Given the description of an element on the screen output the (x, y) to click on. 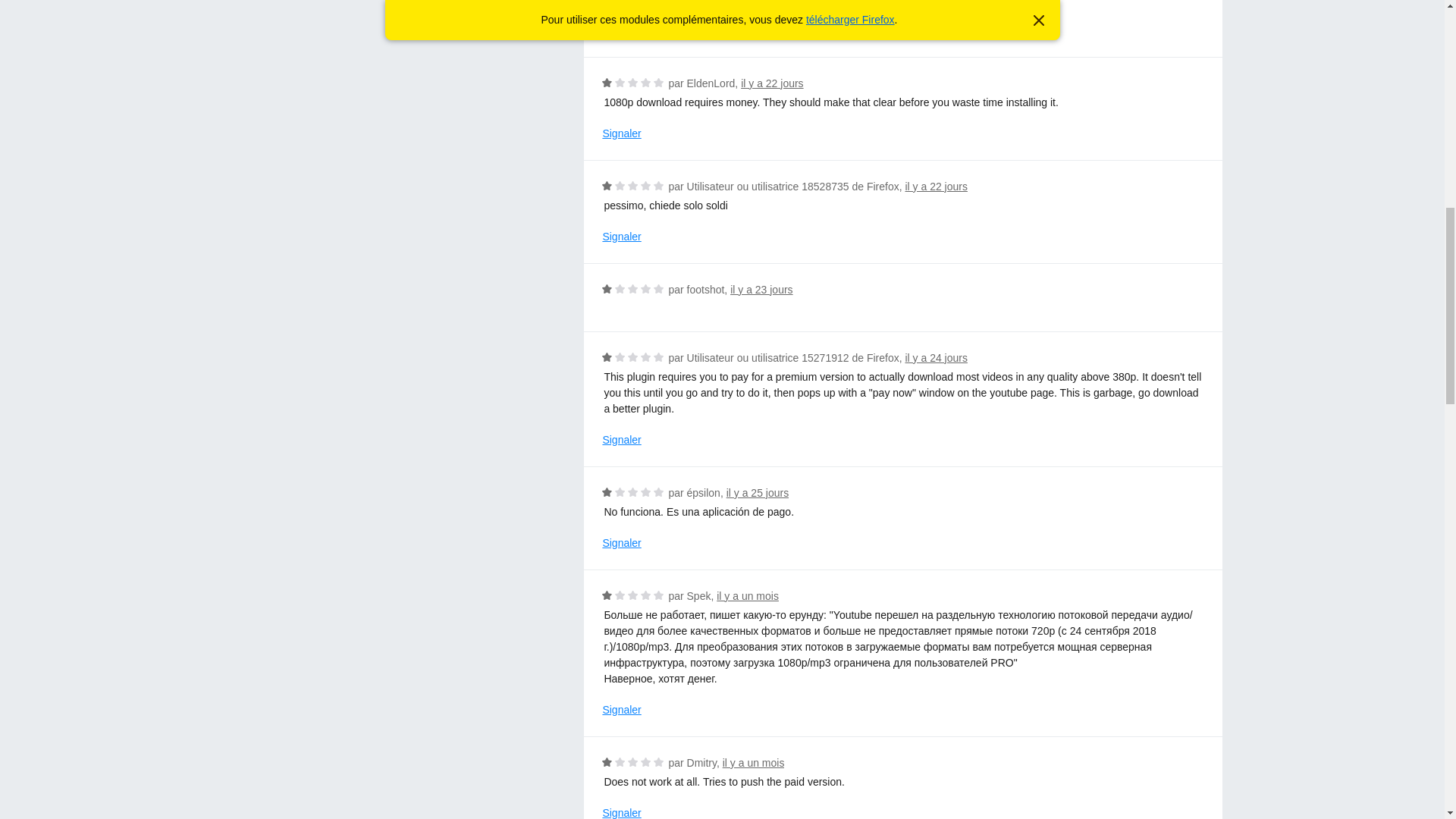
Signaler (621, 236)
Signaler (621, 543)
Signaler (621, 133)
il y a 22 jours (772, 82)
il y a un mois (747, 595)
il y a 22 jours (935, 186)
Signaler (621, 439)
il y a 25 jours (757, 492)
il y a 24 jours (935, 357)
il y a 21 jours (935, 15)
